Given the description of an element on the screen output the (x, y) to click on. 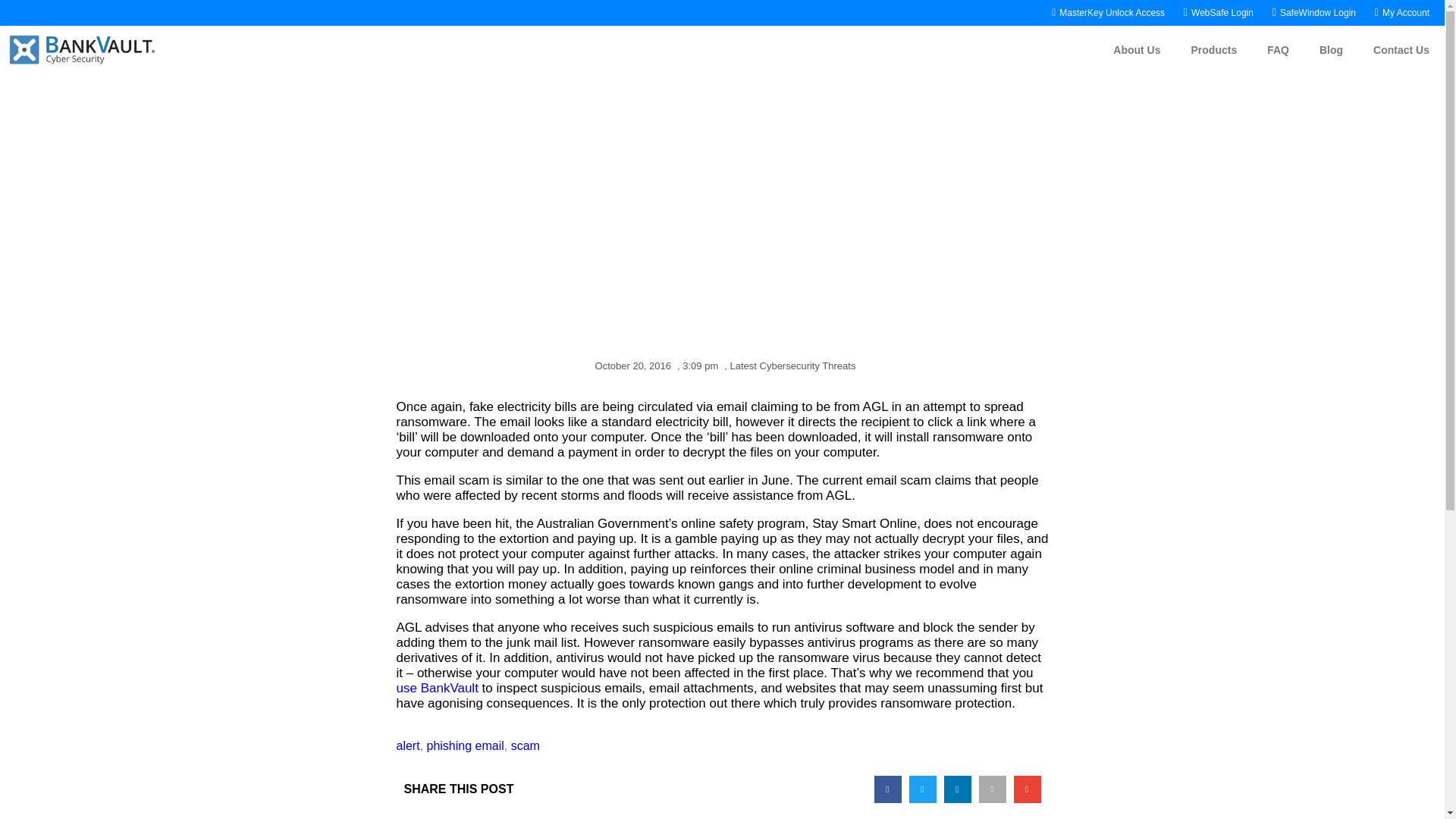
Products (1214, 49)
October 20, 2016 (630, 365)
FAQ (1278, 49)
About Us (1135, 49)
WebSafe Login (1214, 12)
SafeWindow Login (1310, 12)
Blog (1331, 49)
My Account (1398, 12)
MasterKey Unlock Access (1104, 12)
